Given the description of an element on the screen output the (x, y) to click on. 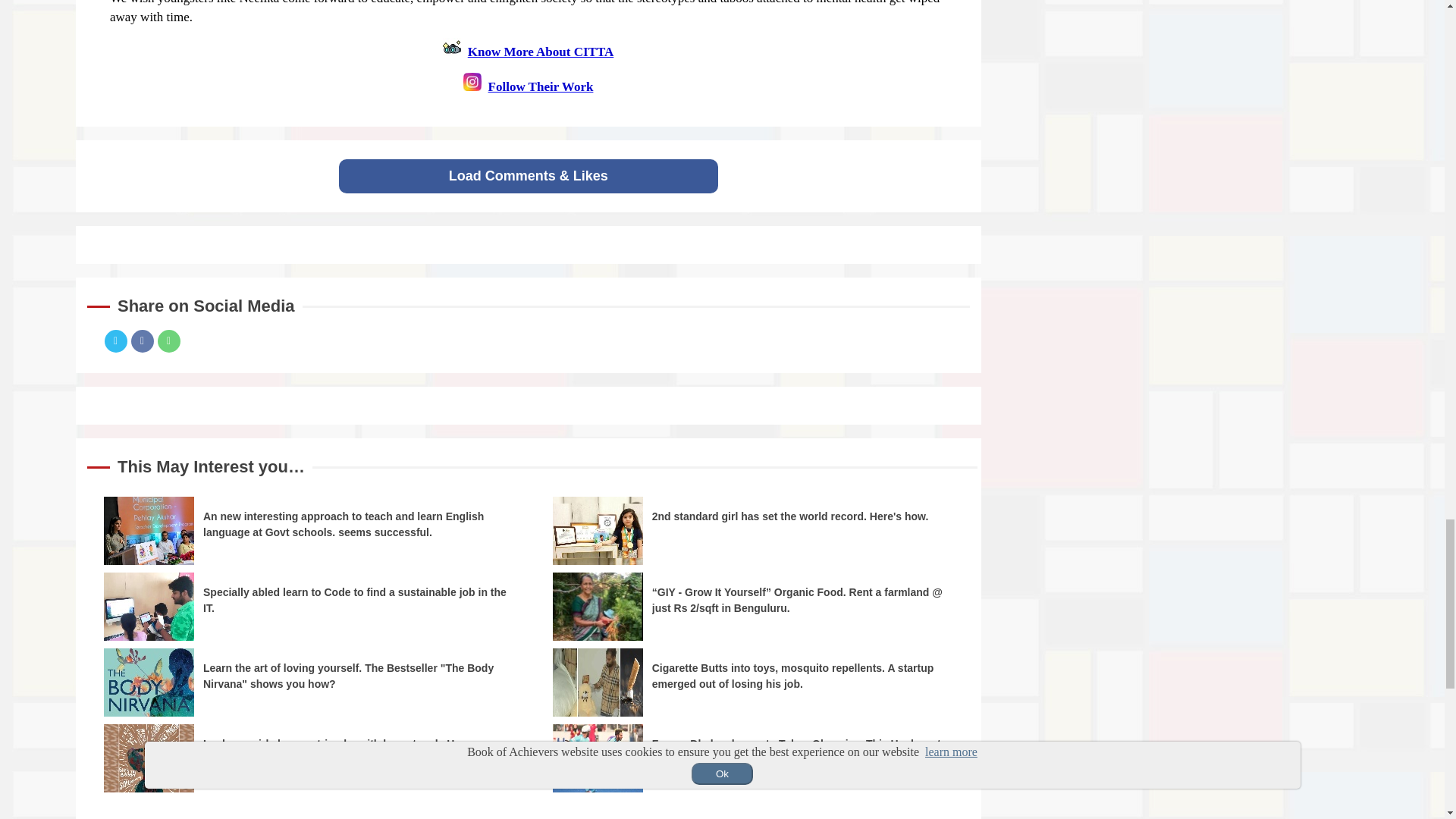
Share on Whatsapp (168, 341)
Share on Twitter (116, 341)
Share on Facebook (141, 341)
